Given the description of an element on the screen output the (x, y) to click on. 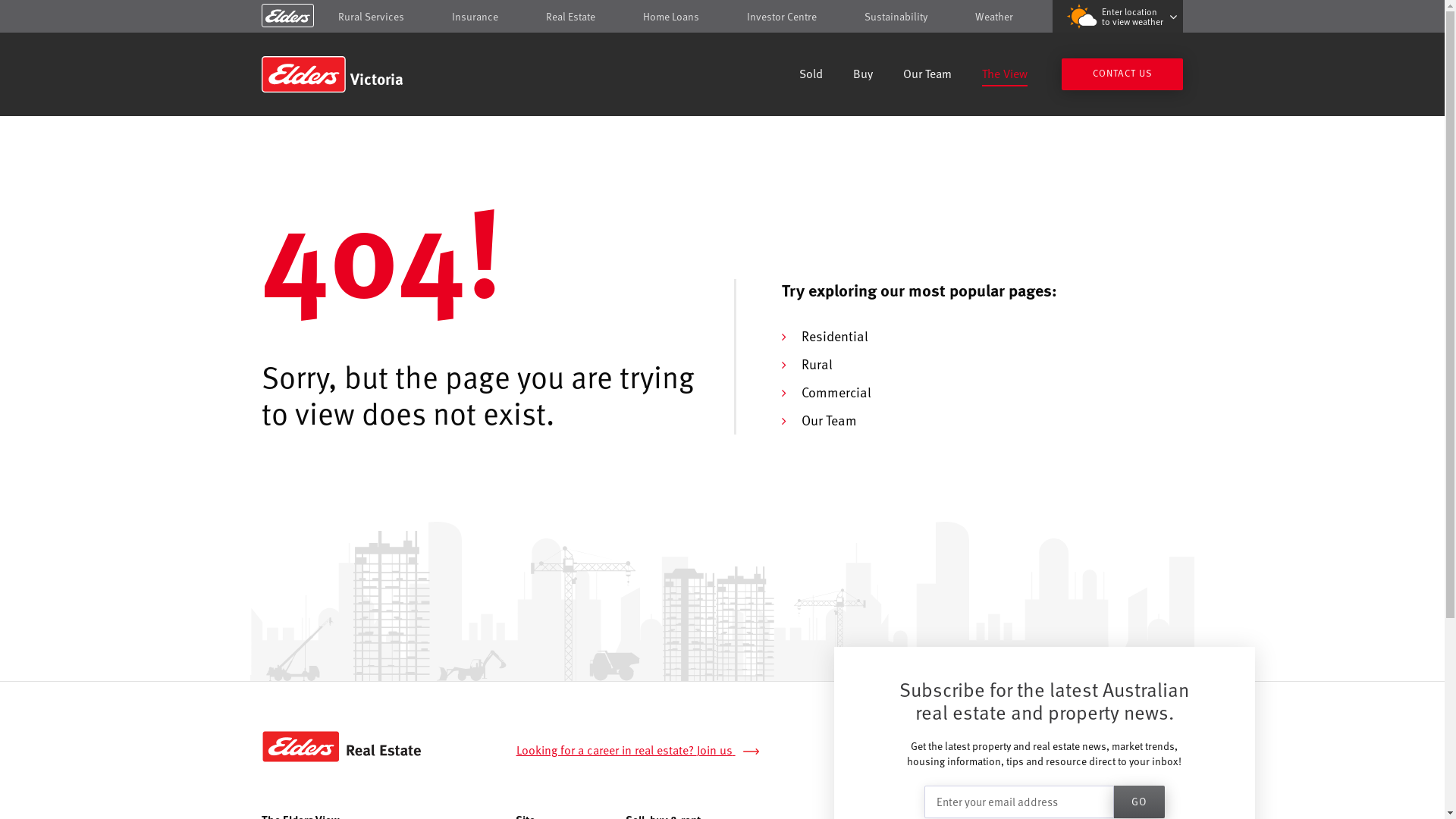
Home Loans Element type: text (671, 16)
The View Element type: text (1004, 75)
Weather Element type: text (994, 16)
Rural Services Element type: text (371, 16)
Residential Element type: text (833, 335)
Insurance Element type: text (474, 16)
Victoria Element type: text (369, 74)
CONTACT US Element type: text (1122, 74)
Rural Element type: text (815, 363)
Our Team Element type: text (828, 419)
Investor Centre Element type: text (781, 16)
Looking for a career in real estate? Join us Element type: text (645, 750)
Real Estate Element type: text (570, 16)
Our Team Element type: text (927, 75)
Commercial Element type: text (835, 391)
Sold Element type: text (810, 75)
Enter location to view weather Element type: text (1117, 16)
Skip to content Element type: text (722, 17)
Buy Element type: text (862, 75)
Sustainability Element type: text (895, 16)
Go Element type: text (1138, 801)
